Given the description of an element on the screen output the (x, y) to click on. 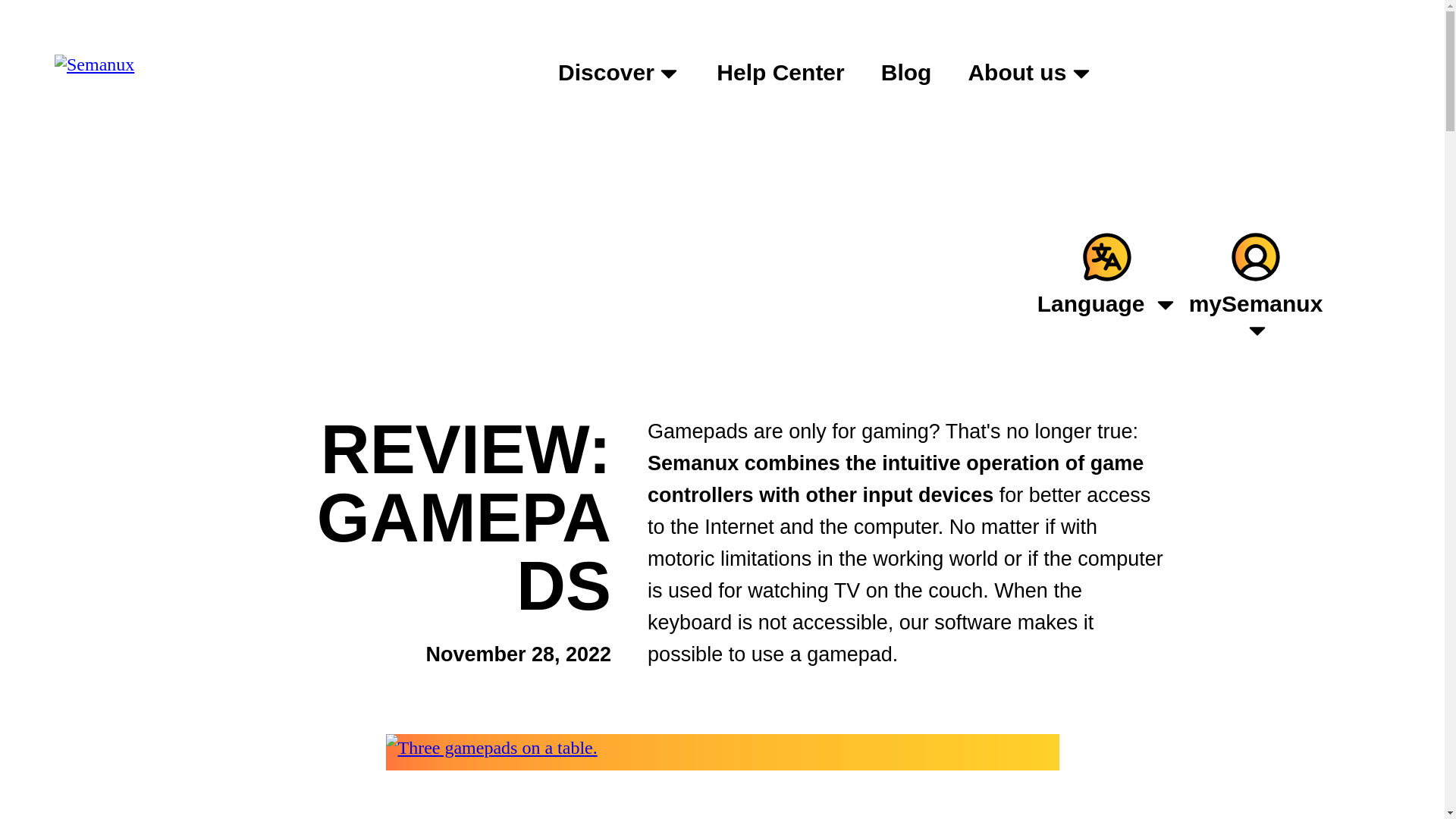
mySemanux (1255, 285)
Language (1106, 271)
Blog (906, 72)
Help Center (779, 72)
About us (1029, 72)
Discover (619, 72)
